Given the description of an element on the screen output the (x, y) to click on. 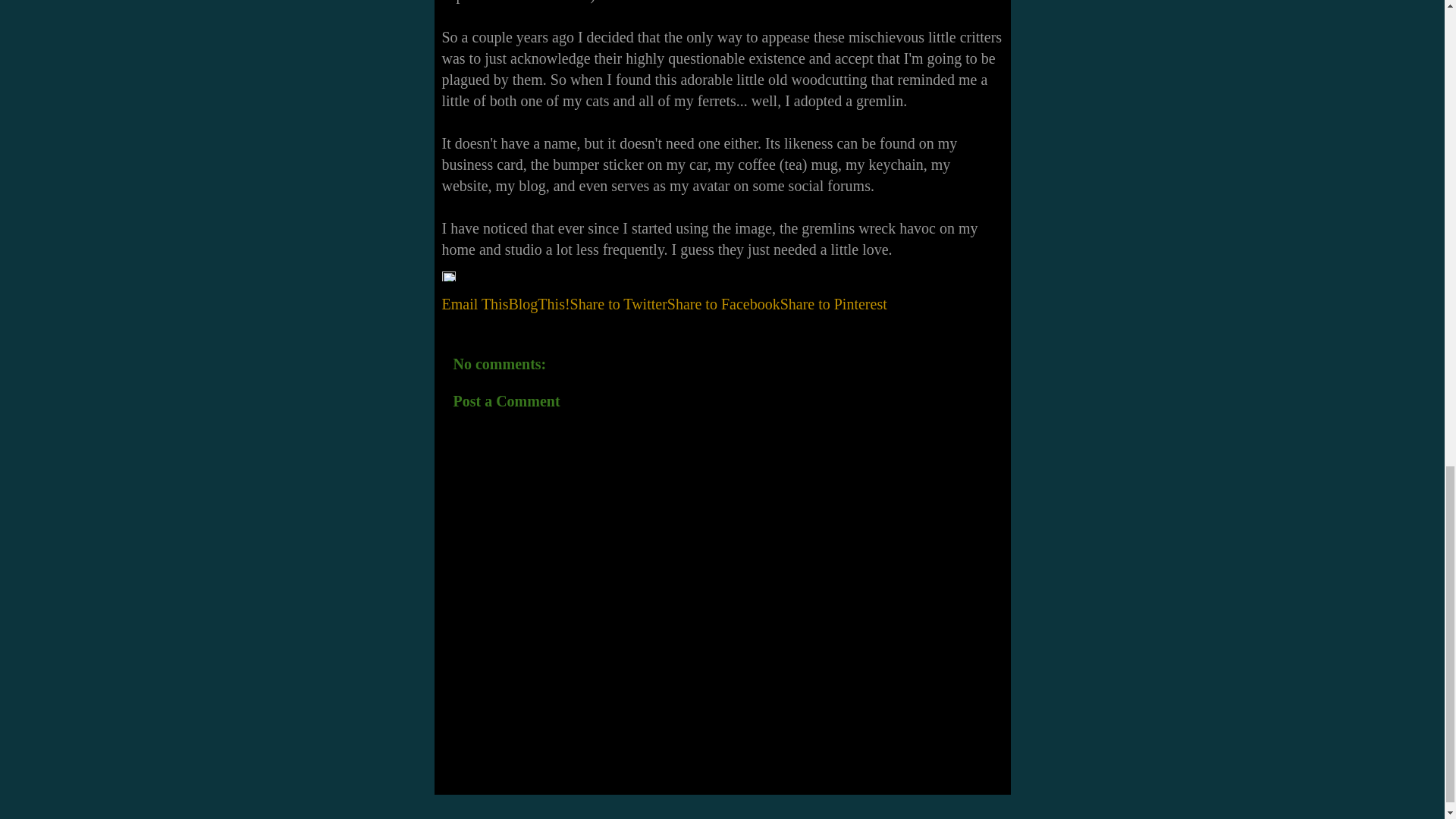
Email This (474, 303)
BlogThis! (538, 303)
BlogThis! (538, 303)
Share to Facebook (723, 303)
Share to Pinterest (833, 303)
Share to Twitter (618, 303)
Share to Pinterest (833, 303)
Email This (474, 303)
Share to Facebook (723, 303)
Share to Twitter (618, 303)
